Given the description of an element on the screen output the (x, y) to click on. 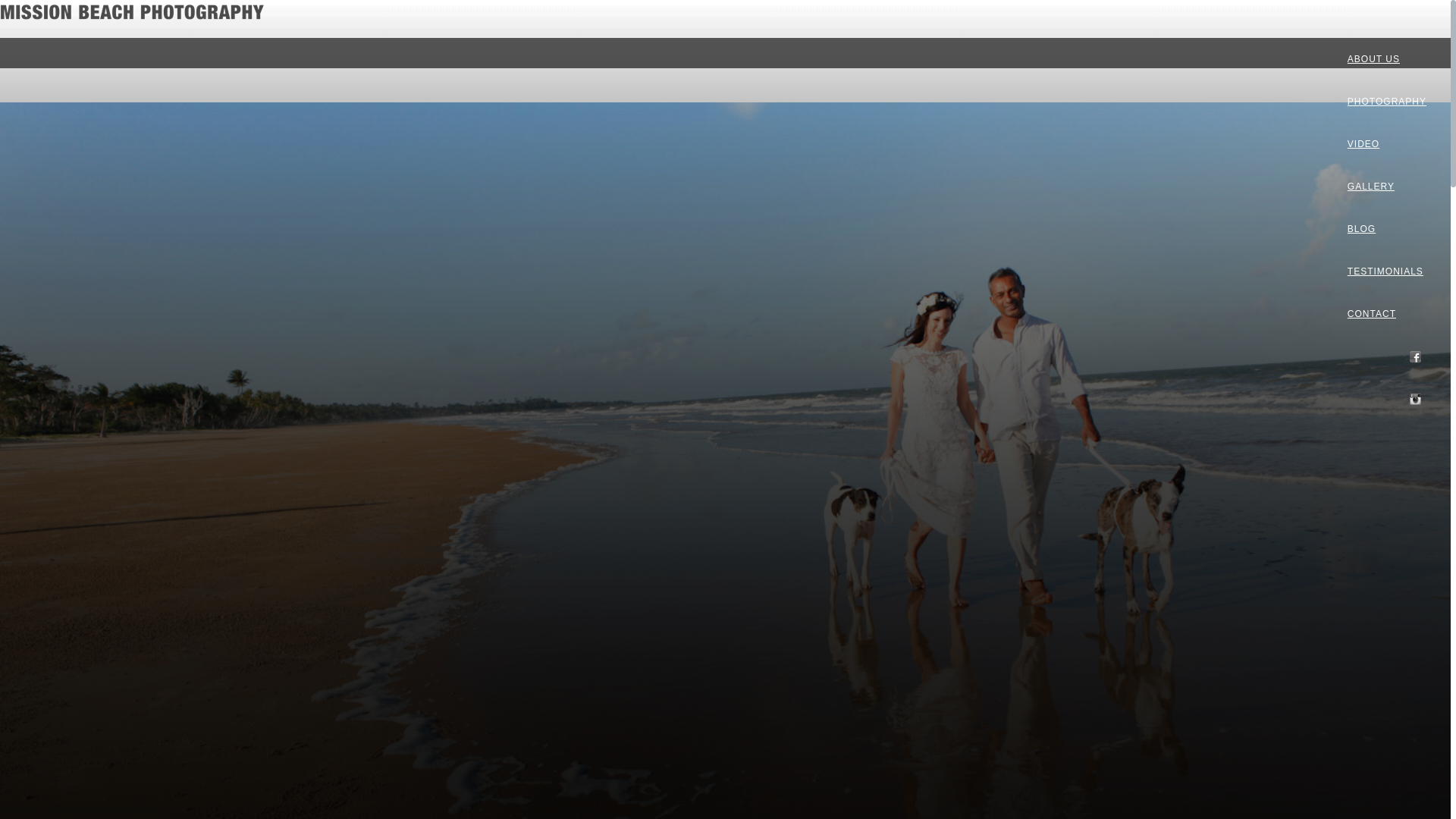
GALLERY Element type: text (1386, 186)
ABOUT US Element type: text (1386, 58)
PHOTOGRAPHY Element type: text (1386, 101)
TESTIMONIALS Element type: text (1386, 271)
BLOG Element type: text (1386, 228)
CONTACT Element type: text (1386, 313)
VIDEO Element type: text (1386, 143)
